Given the description of an element on the screen output the (x, y) to click on. 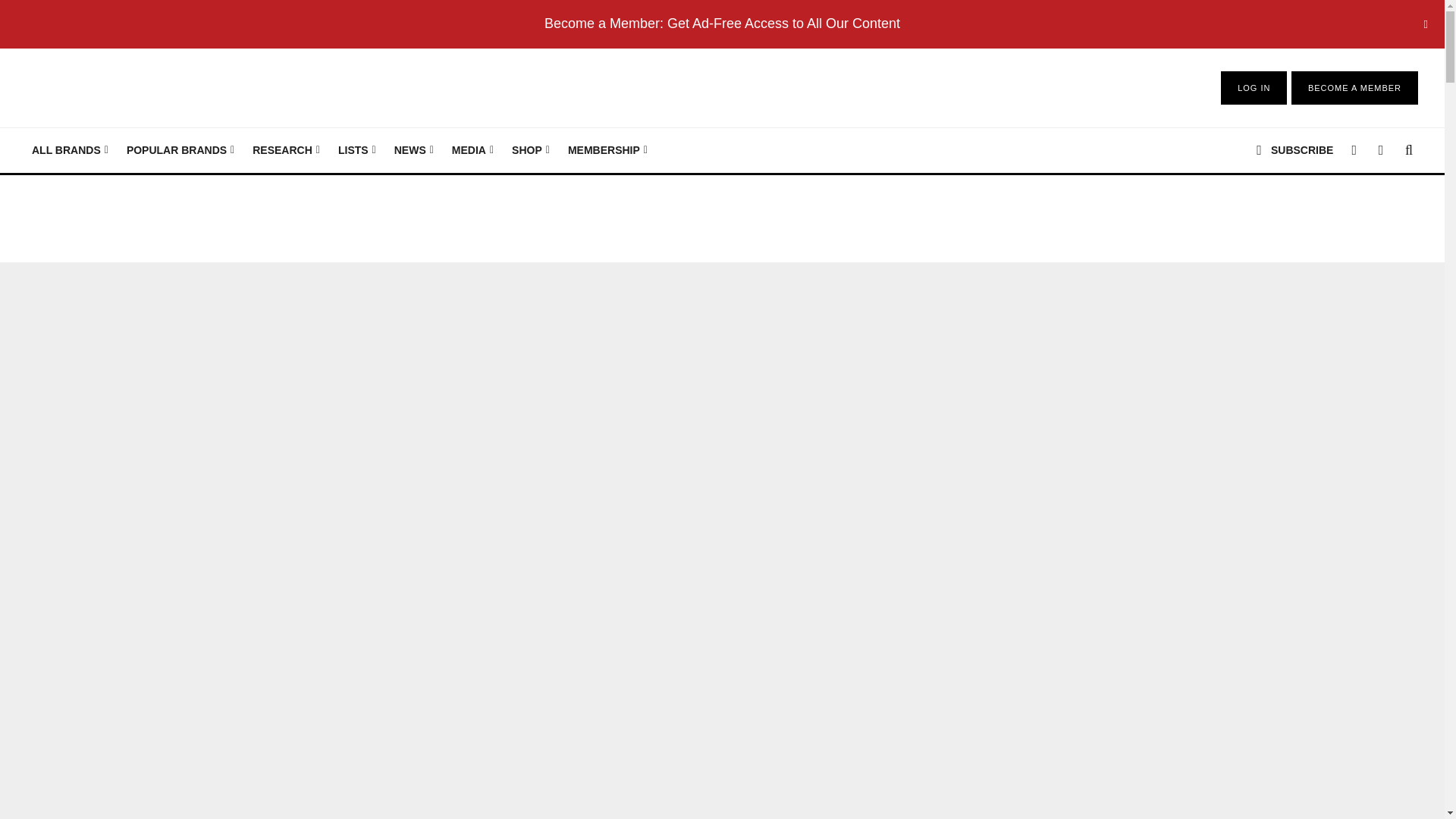
Become a Member: Get Ad-Free Access to All Our Content (721, 23)
BECOME A MEMBER (1353, 87)
LOG IN (1253, 87)
ALL BRANDS (70, 149)
Become a Member: Get Ad-Free Access to All Our Content (721, 23)
